Given the description of an element on the screen output the (x, y) to click on. 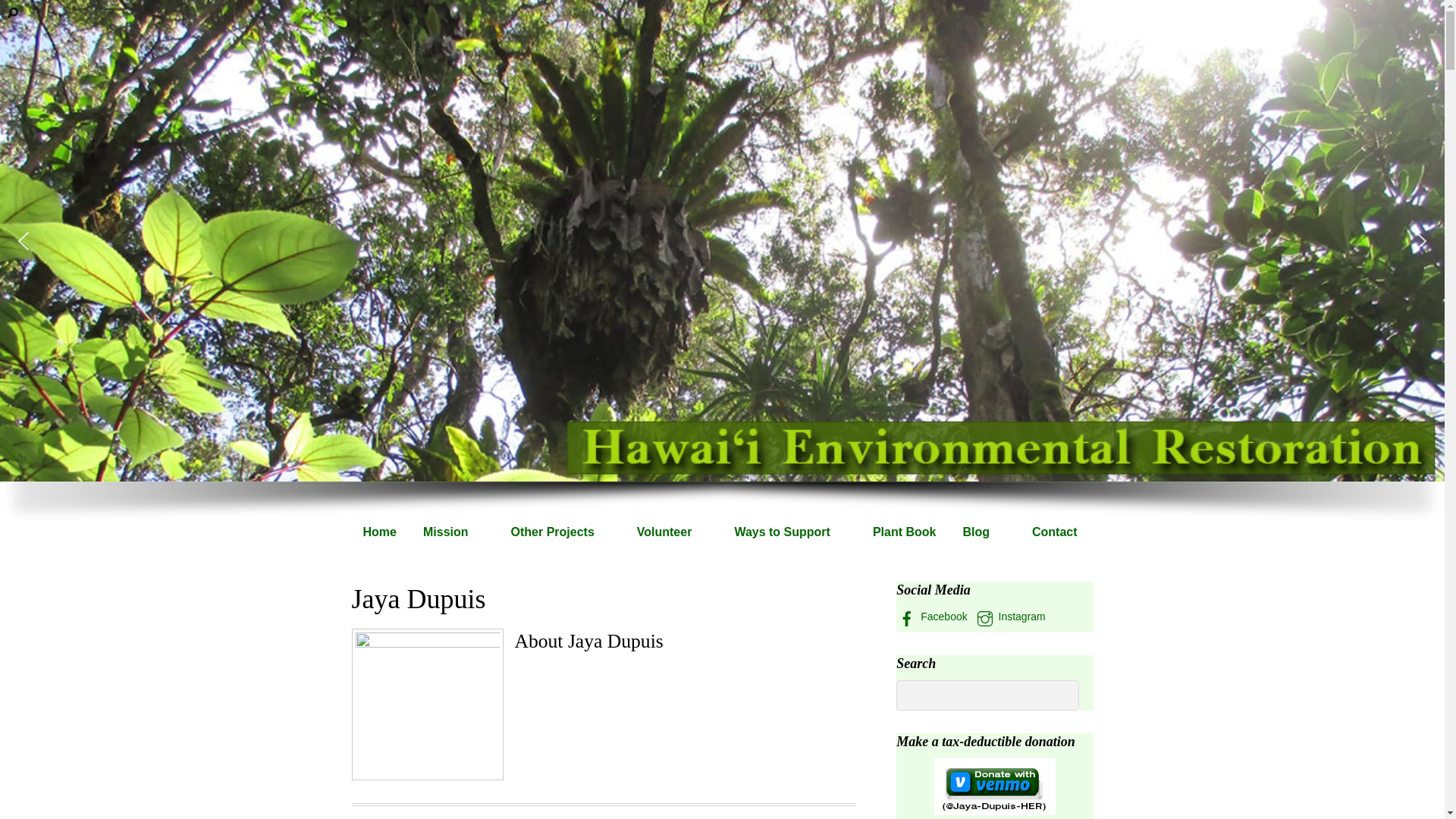
Contact (1054, 532)
Ways to Support (789, 532)
Blog (983, 532)
Other Projects (560, 532)
Home (379, 532)
Mission (454, 532)
Volunteer (672, 532)
Plant Book (904, 532)
